Given the description of an element on the screen output the (x, y) to click on. 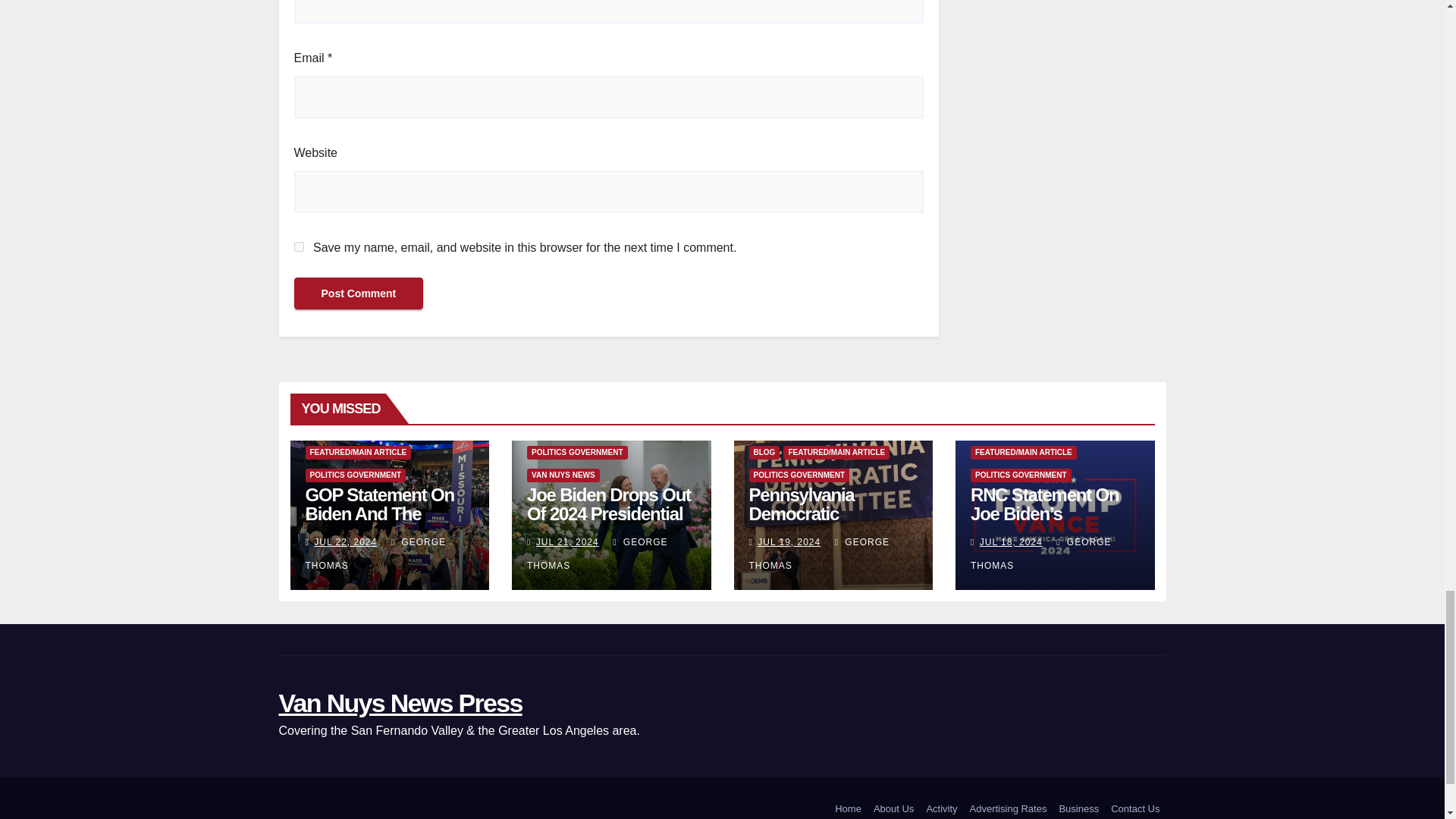
Home (847, 807)
yes (299, 246)
Post Comment (358, 293)
